Given the description of an element on the screen output the (x, y) to click on. 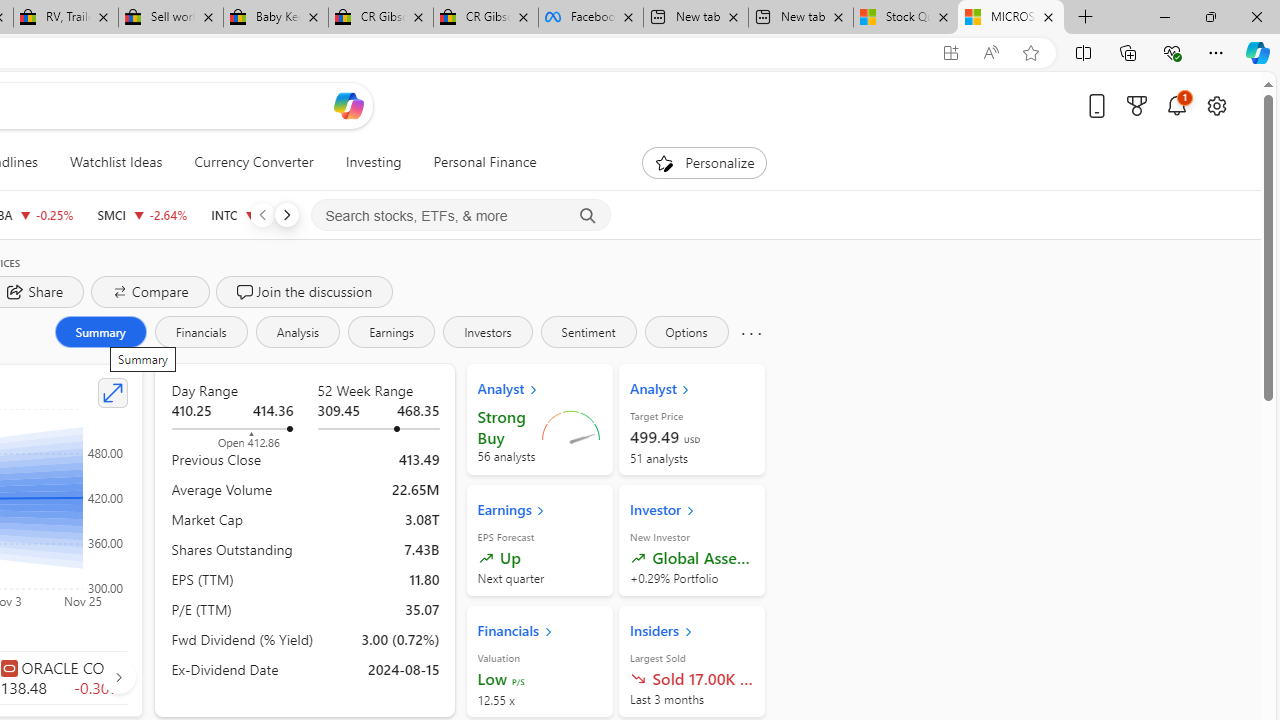
Notifications (1176, 105)
App available. Install Start Money (950, 53)
New Tab (1085, 17)
Compare (149, 291)
AutomationID: finance_carousel_navi_right (118, 677)
Search stocks, ETFs, & more (461, 215)
Add this page to favorites (Ctrl+D) (1030, 53)
Personal Finance (477, 162)
Watchlist Ideas (115, 162)
Options (686, 331)
Investing (373, 162)
Sell worldwide with eBay (170, 17)
